Given the description of an element on the screen output the (x, y) to click on. 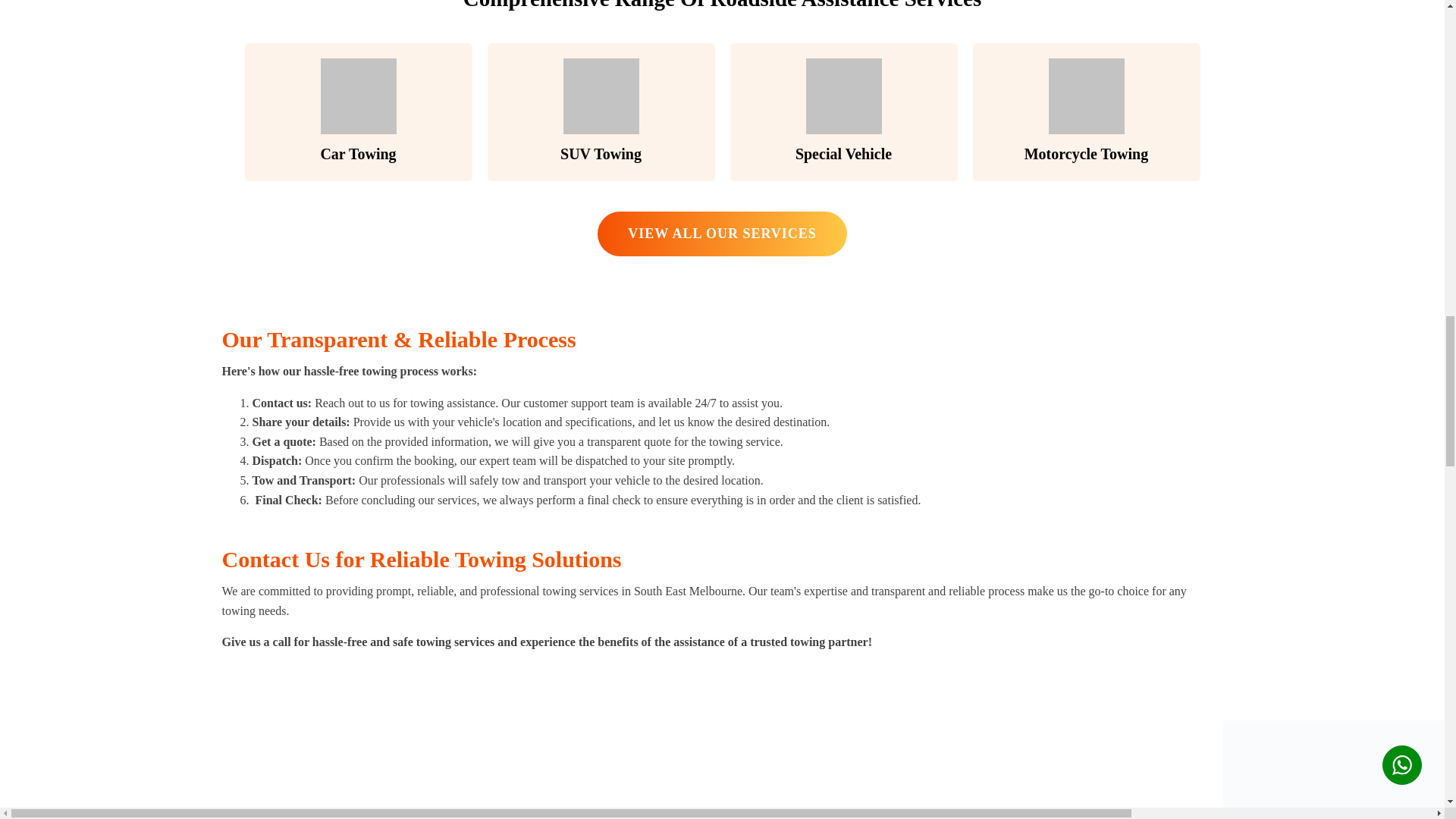
VIEW ALL OUR SERVICES (721, 233)
SUV Towing (600, 111)
Motorcycle Towing (1085, 111)
Car Towing (357, 111)
Special Vehicle (842, 111)
